Given the description of an element on the screen output the (x, y) to click on. 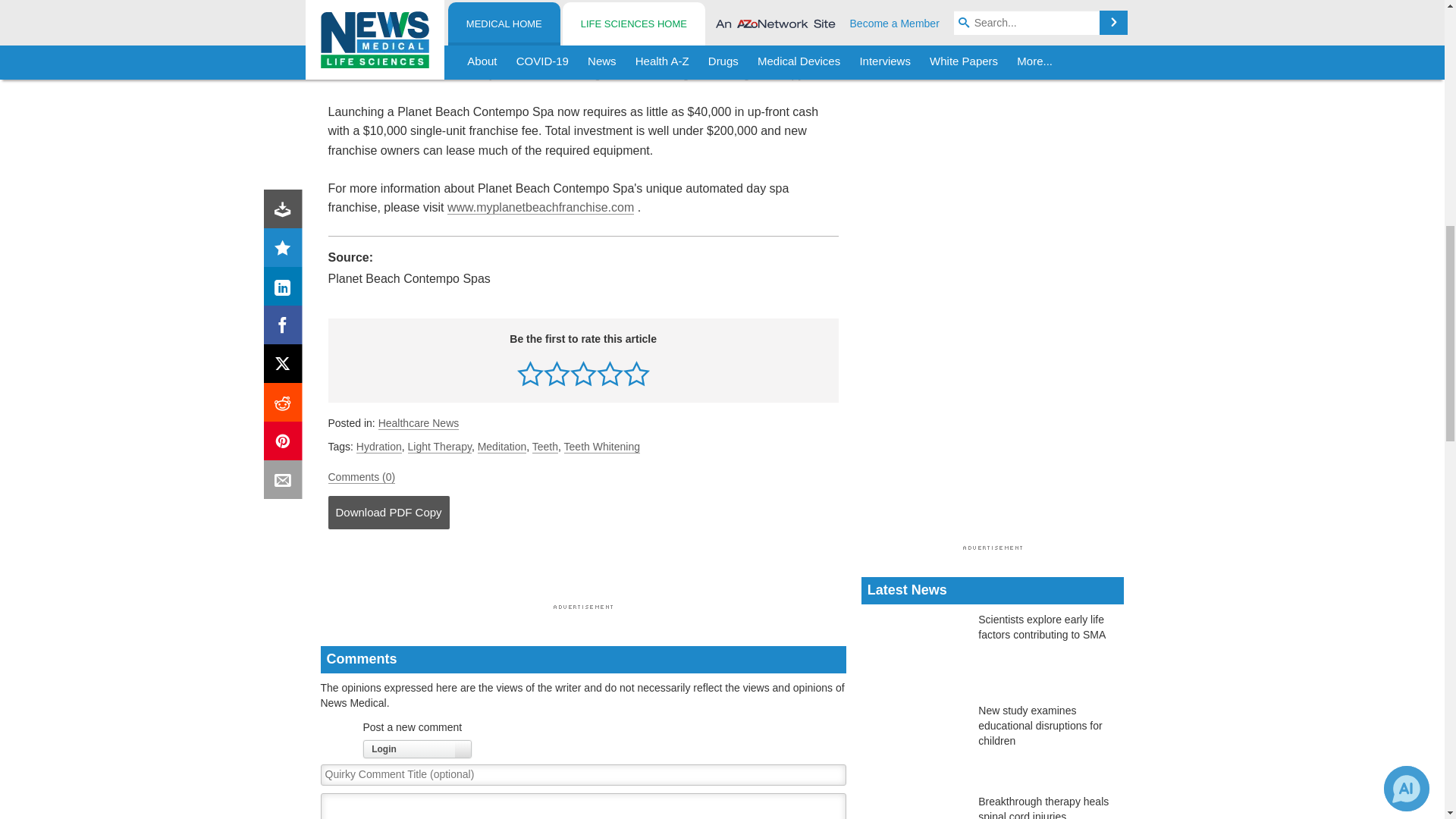
Rate this 4 stars out of 5 (609, 373)
Rate this 5 stars out of 5 (636, 373)
